Given the description of an element on the screen output the (x, y) to click on. 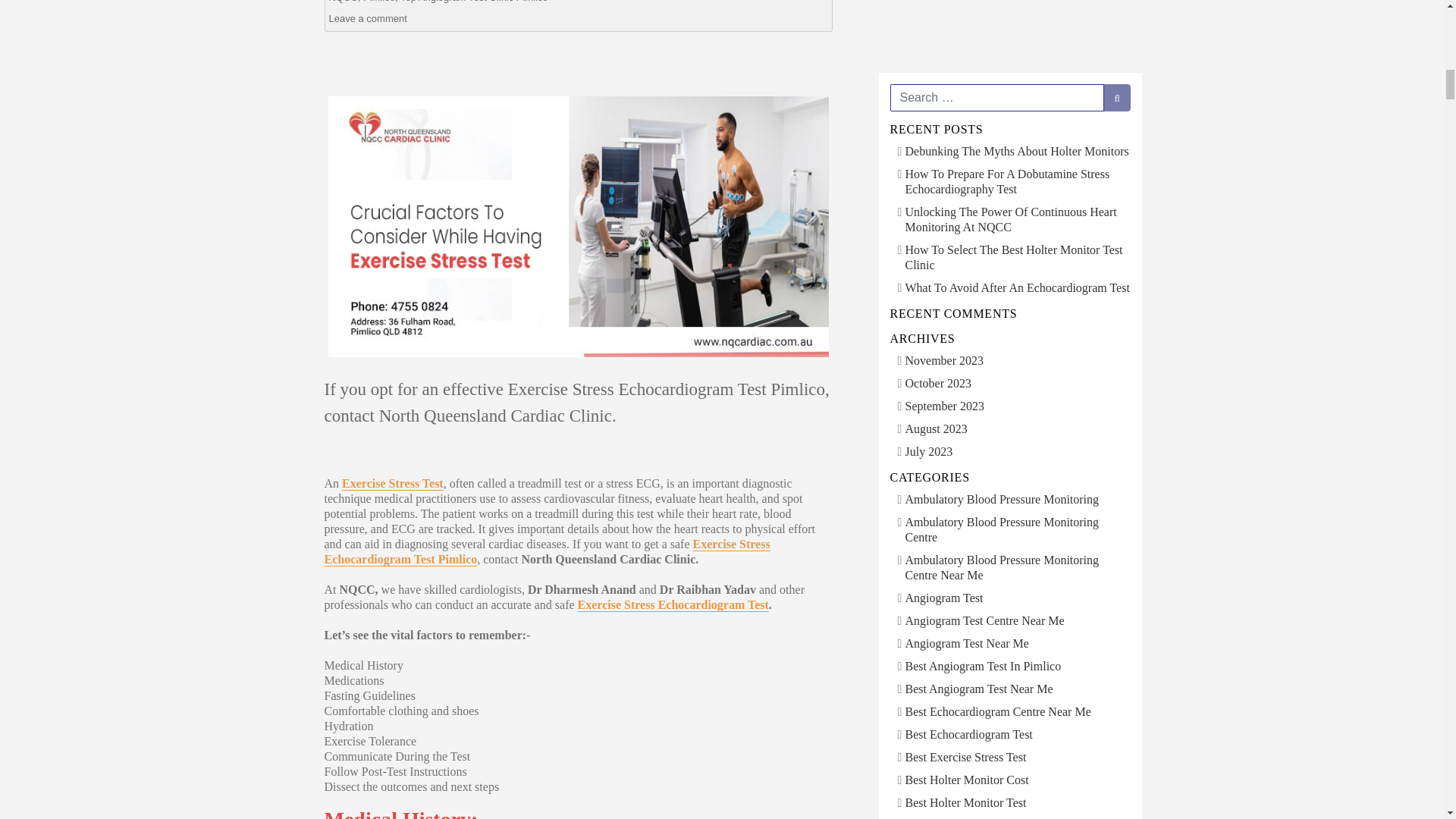
Top Angiogram Test Clinic Pimlico (474, 1)
Exercise Stress Echocardiogram Test Pimlico (547, 551)
Pimlico (378, 1)
Exercise Stress Test (393, 482)
NQCC (343, 1)
